Given the description of an element on the screen output the (x, y) to click on. 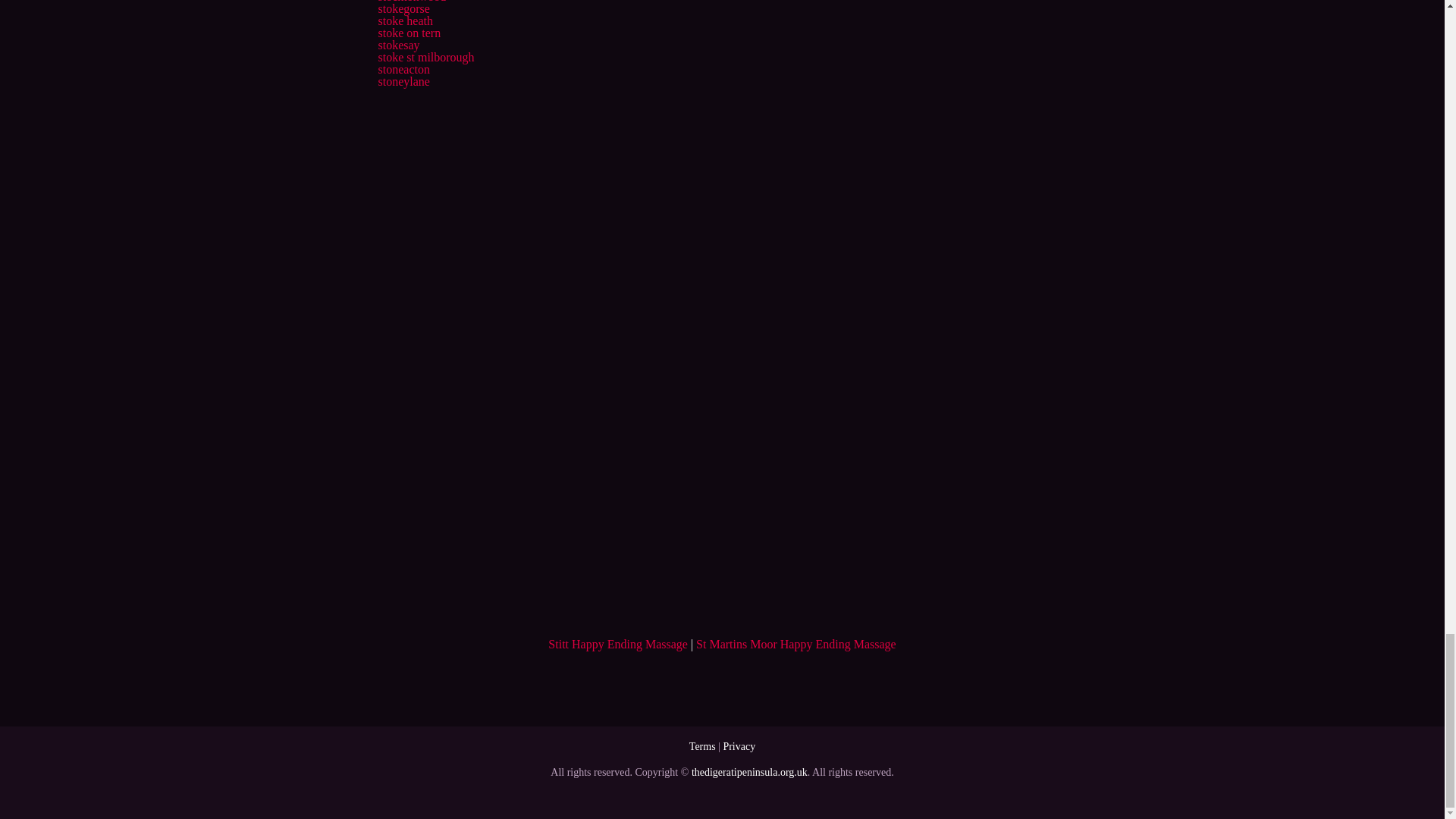
stoneacton (403, 69)
stoke heath (404, 20)
Privacy (738, 746)
Stitt Happy Ending Massage (617, 644)
stocktonwood (411, 1)
stoneylane (403, 81)
Terms (702, 746)
stoke on tern (409, 32)
stokesay (398, 44)
thedigeratipeninsula.org.uk (749, 772)
Terms (702, 746)
stoke st milborough (425, 56)
St Martins Moor Happy Ending Massage (795, 644)
stokegorse (403, 8)
Privacy (738, 746)
